Given the description of an element on the screen output the (x, y) to click on. 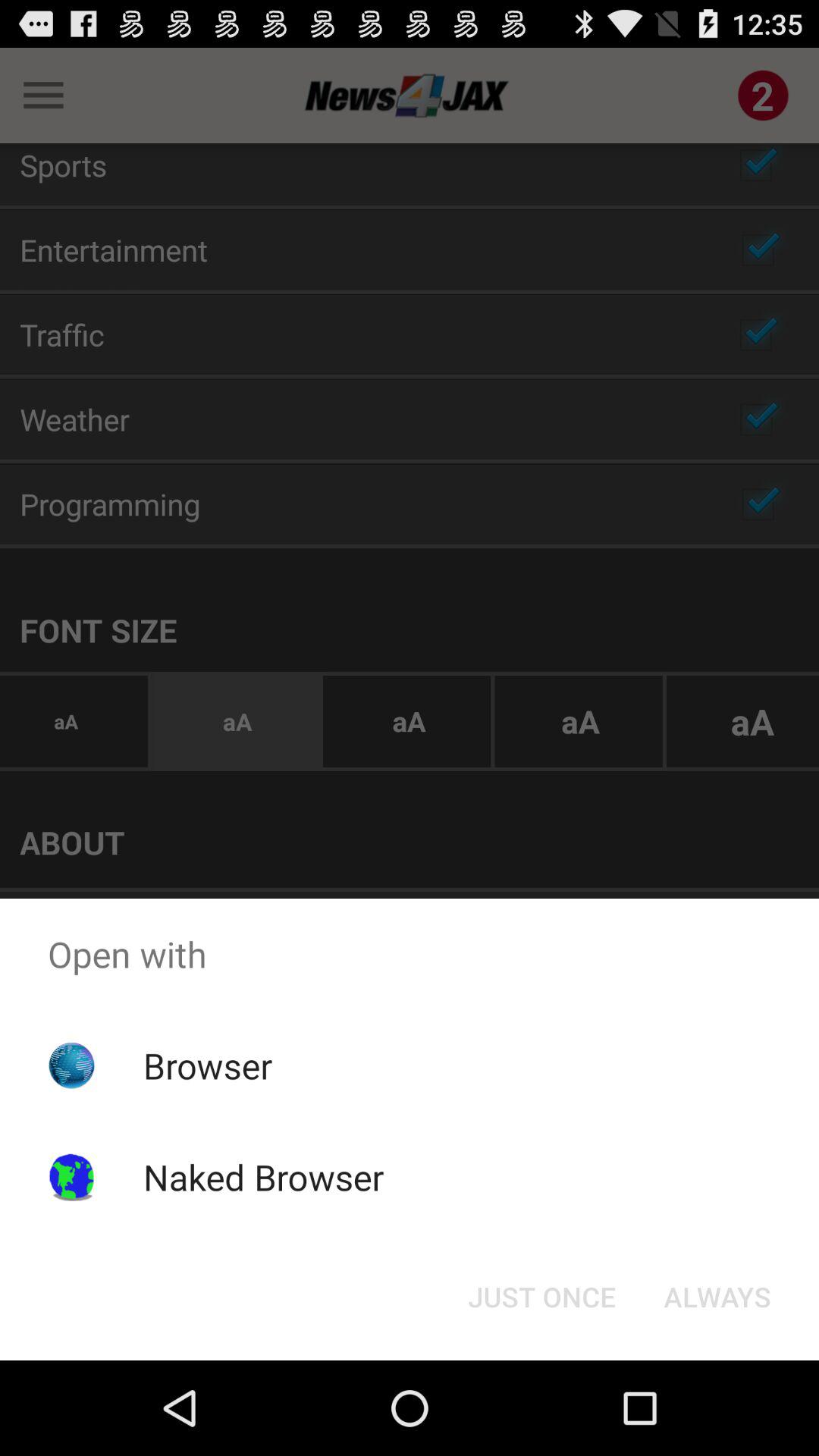
tap item to the right of the just once (717, 1296)
